Given the description of an element on the screen output the (x, y) to click on. 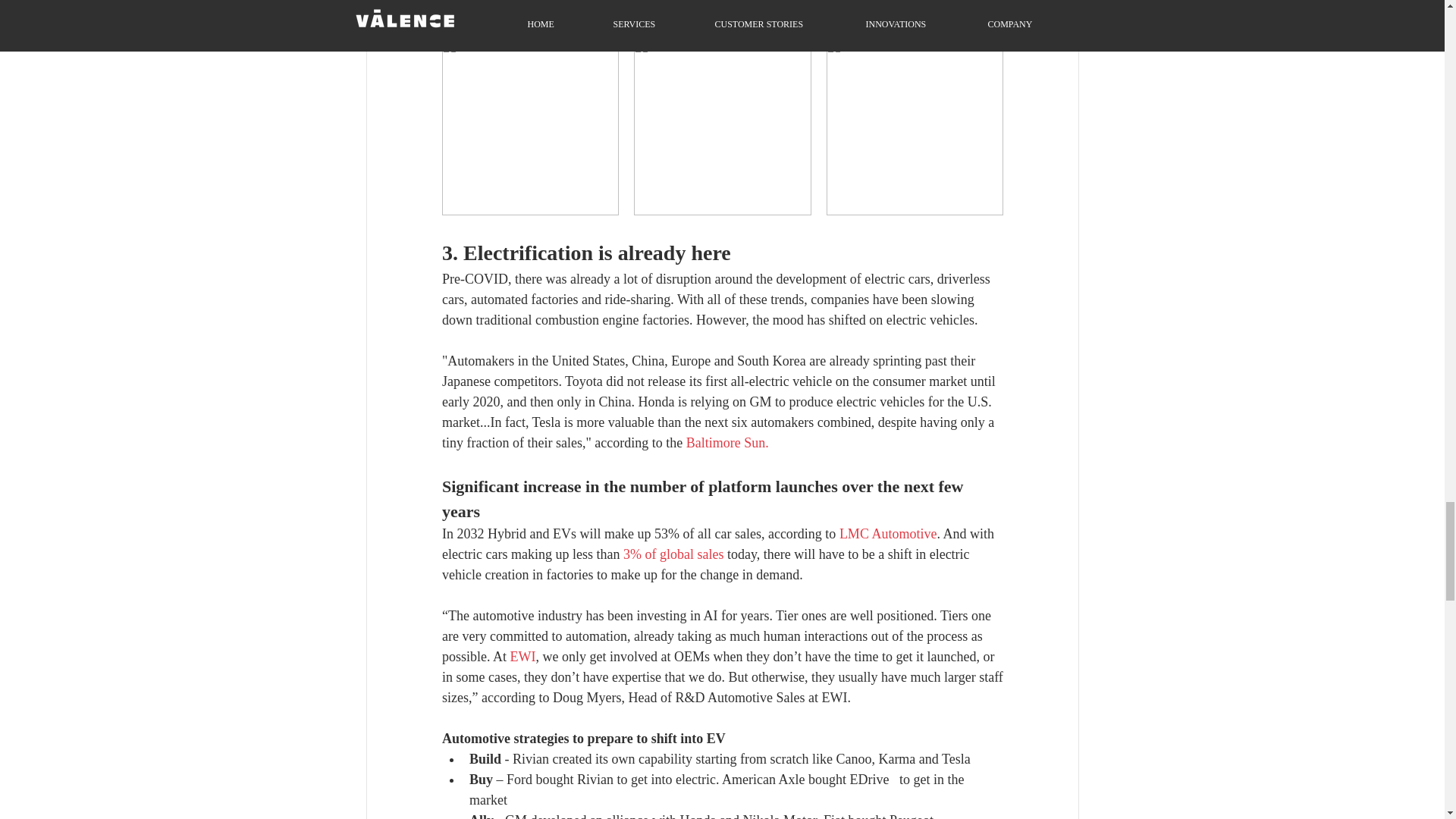
Baltimore Sun. (726, 442)
EWI (522, 656)
Read the full case study (709, 26)
LMC Automotive (887, 533)
